Given the description of an element on the screen output the (x, y) to click on. 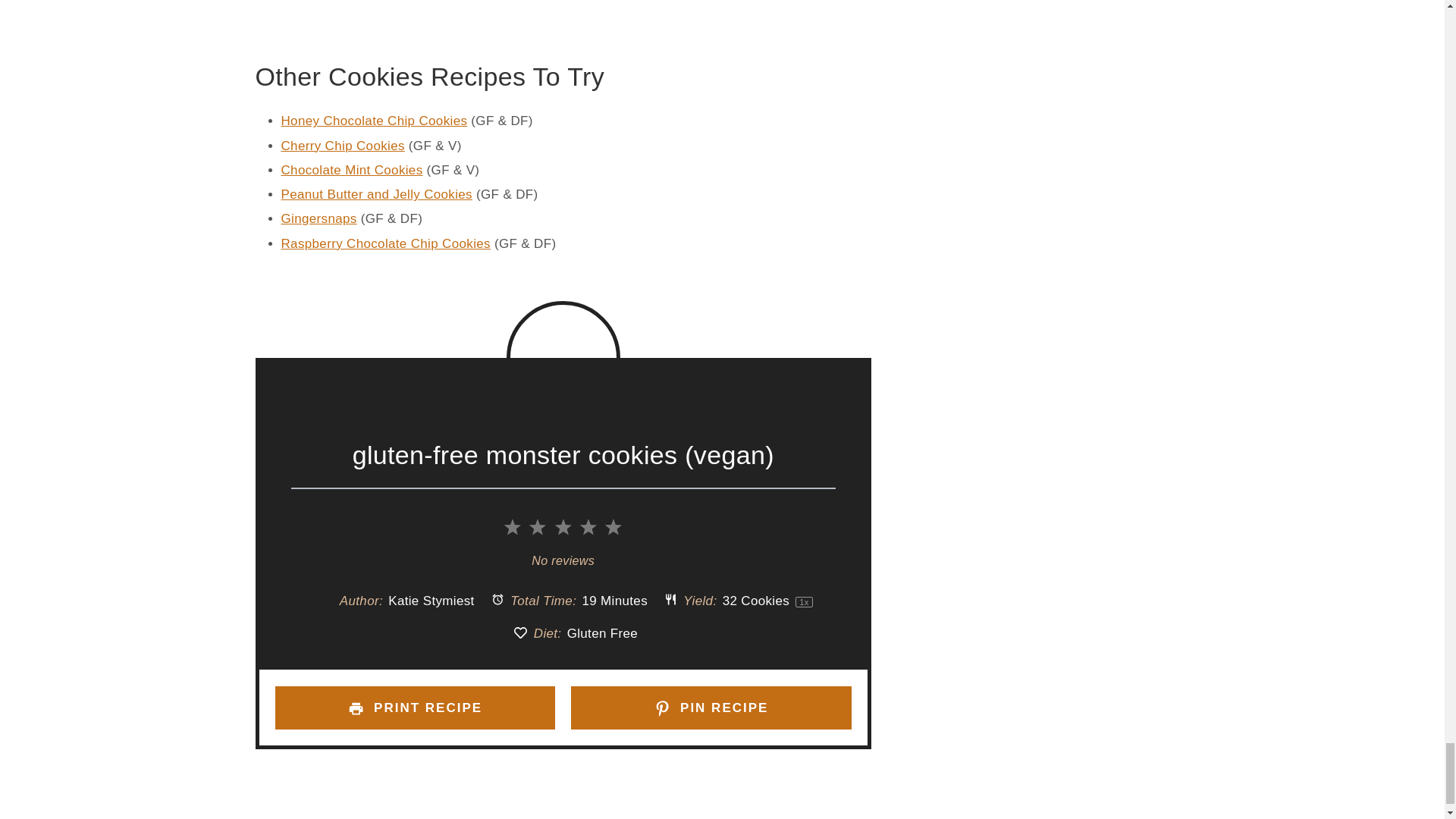
Chocolate Mint Cookies (351, 169)
Peanut Butter and Jelly Cookies (376, 194)
Honey Chocolate Chip Cookies (374, 120)
Cherry Chip Cookies (342, 145)
Gingersnaps (318, 218)
Raspberry Chocolate Chip Cookies (385, 243)
